Given the description of an element on the screen output the (x, y) to click on. 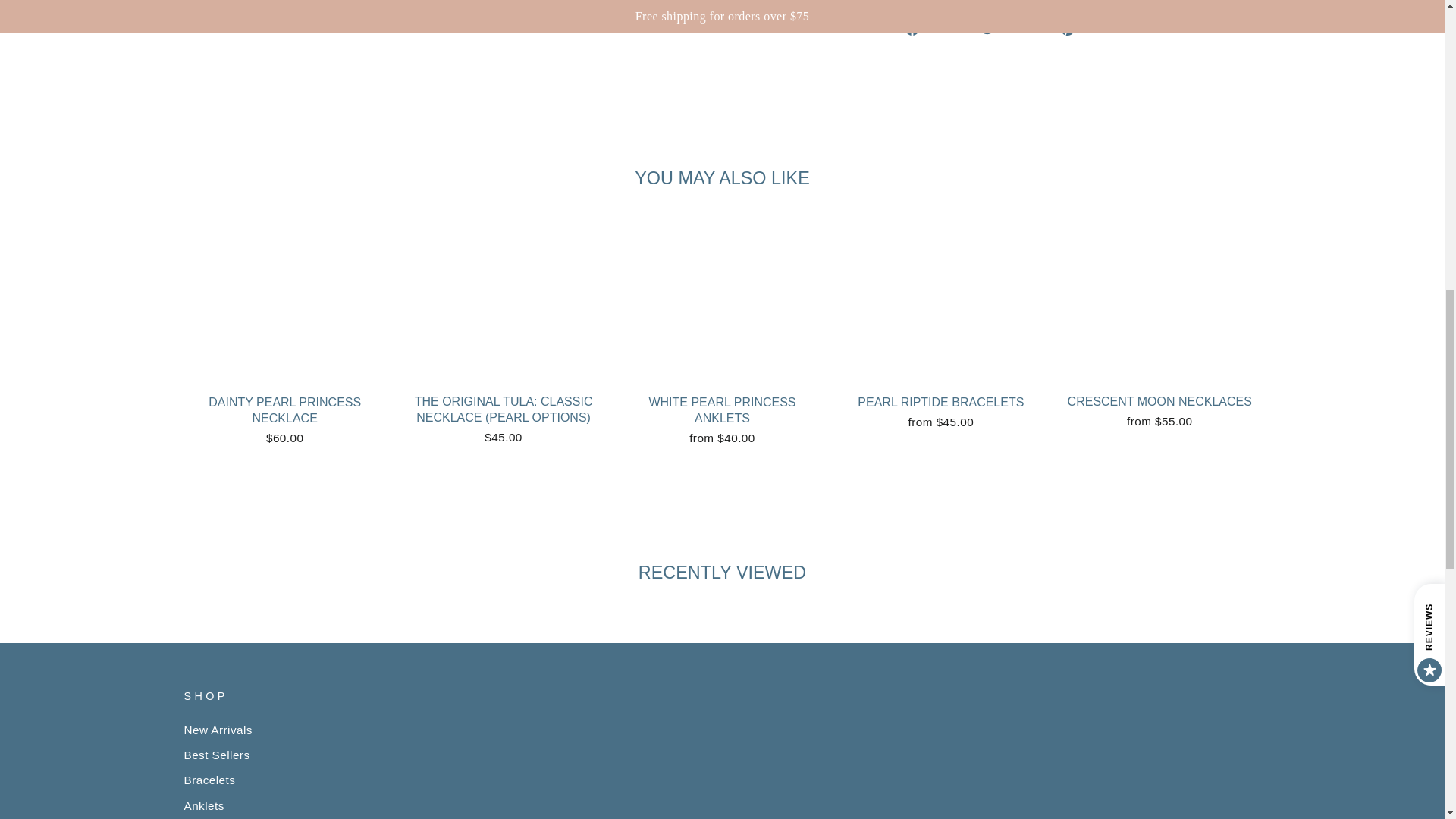
Tweet on Twitter (1014, 27)
Share on Facebook (937, 27)
Pin on Pinterest (1090, 27)
